Given the description of an element on the screen output the (x, y) to click on. 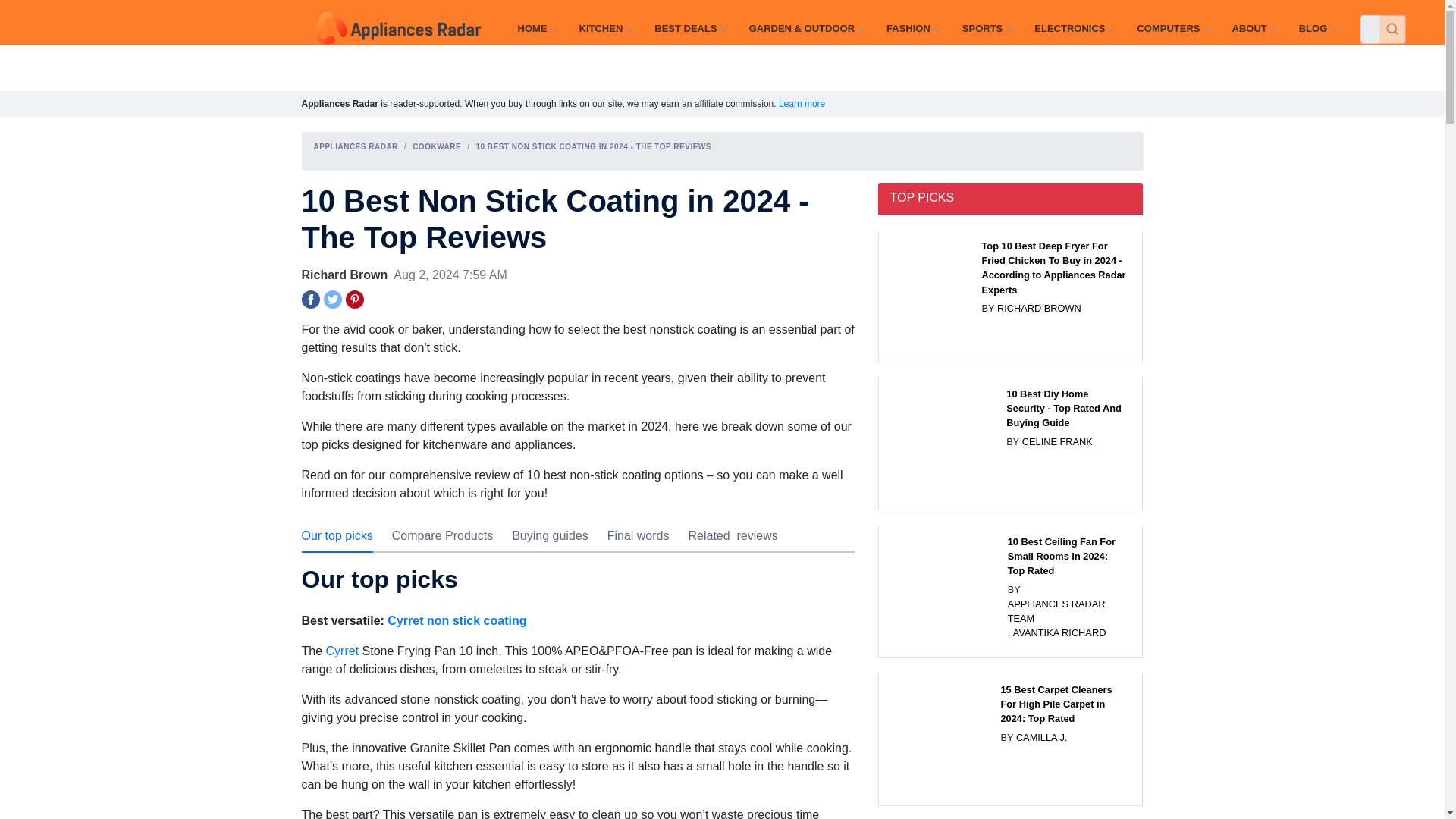
Compare Products (442, 535)
Our top picks (336, 535)
Buying guides (550, 535)
Related  reviews (732, 535)
KITCHEN (605, 28)
Final words (638, 535)
HOME (536, 28)
Home (536, 28)
